Given the description of an element on the screen output the (x, y) to click on. 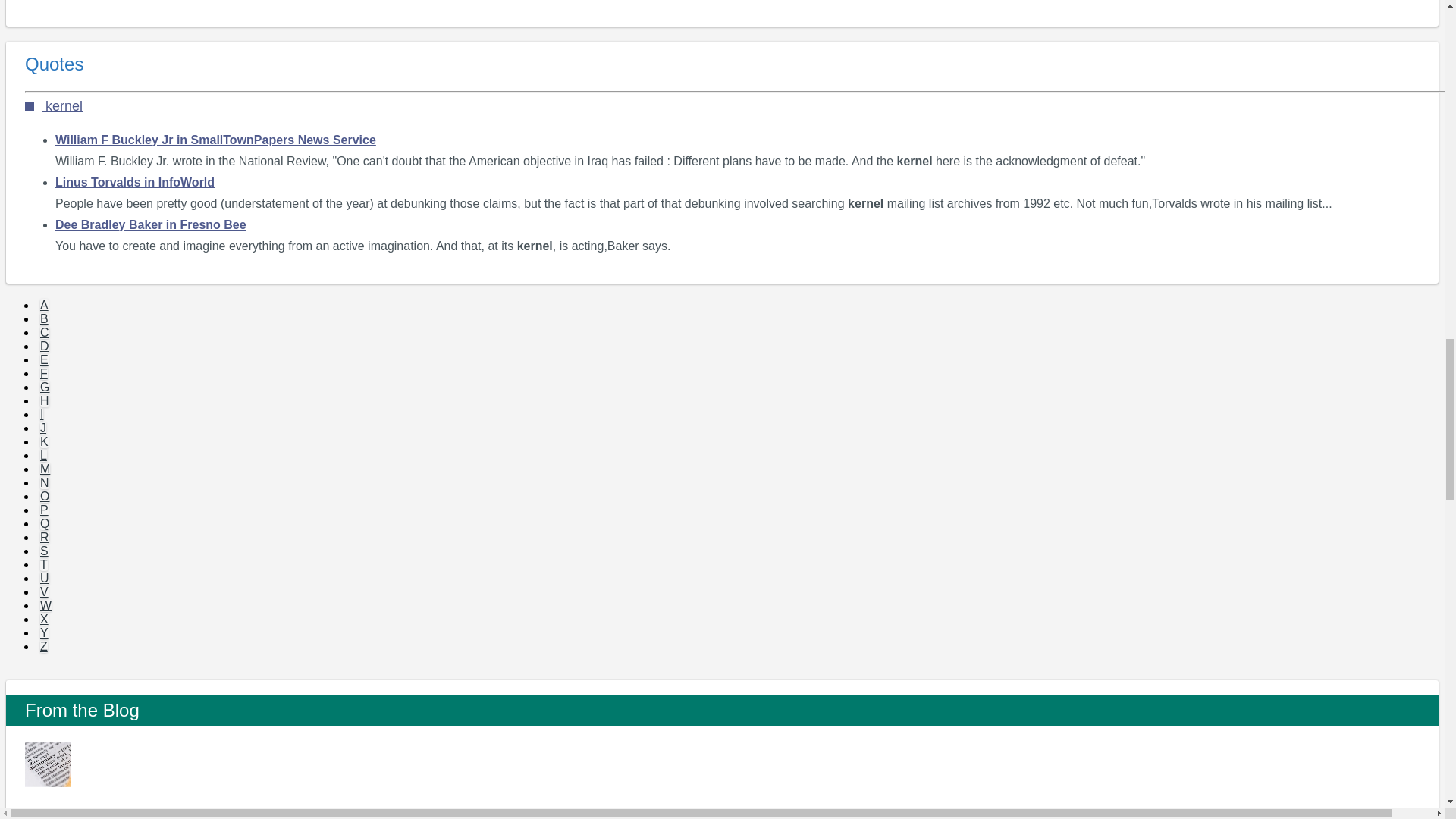
  kernel (53, 105)
William F Buckley Jr in SmallTownPapers News Service (215, 139)
